Given the description of an element on the screen output the (x, y) to click on. 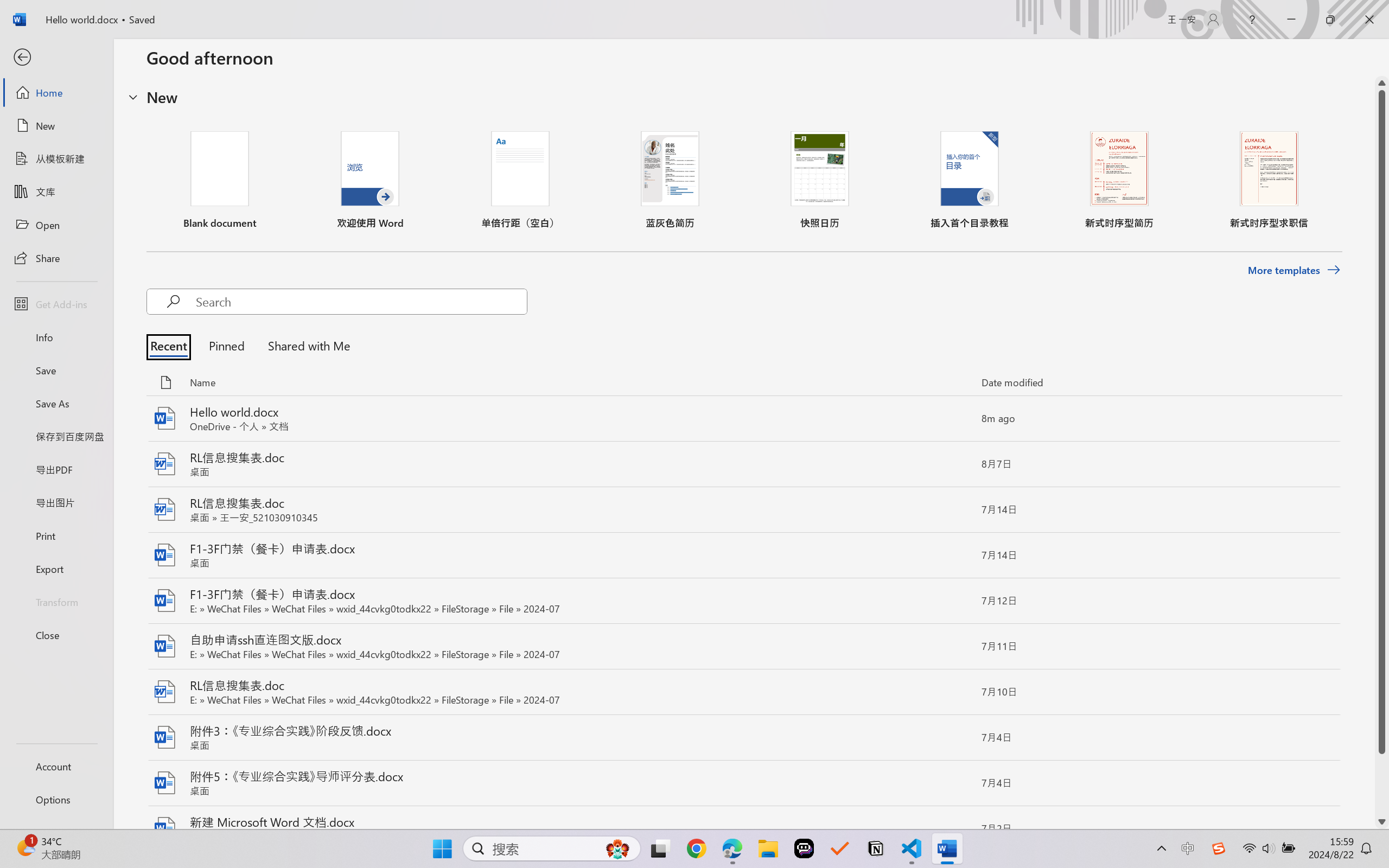
Print (56, 535)
Restore Down (1330, 19)
Home (56, 92)
Options (56, 798)
Line up (1382, 83)
Close (56, 634)
AutomationID: DynamicSearchBoxGleamImage (617, 848)
